Given the description of an element on the screen output the (x, y) to click on. 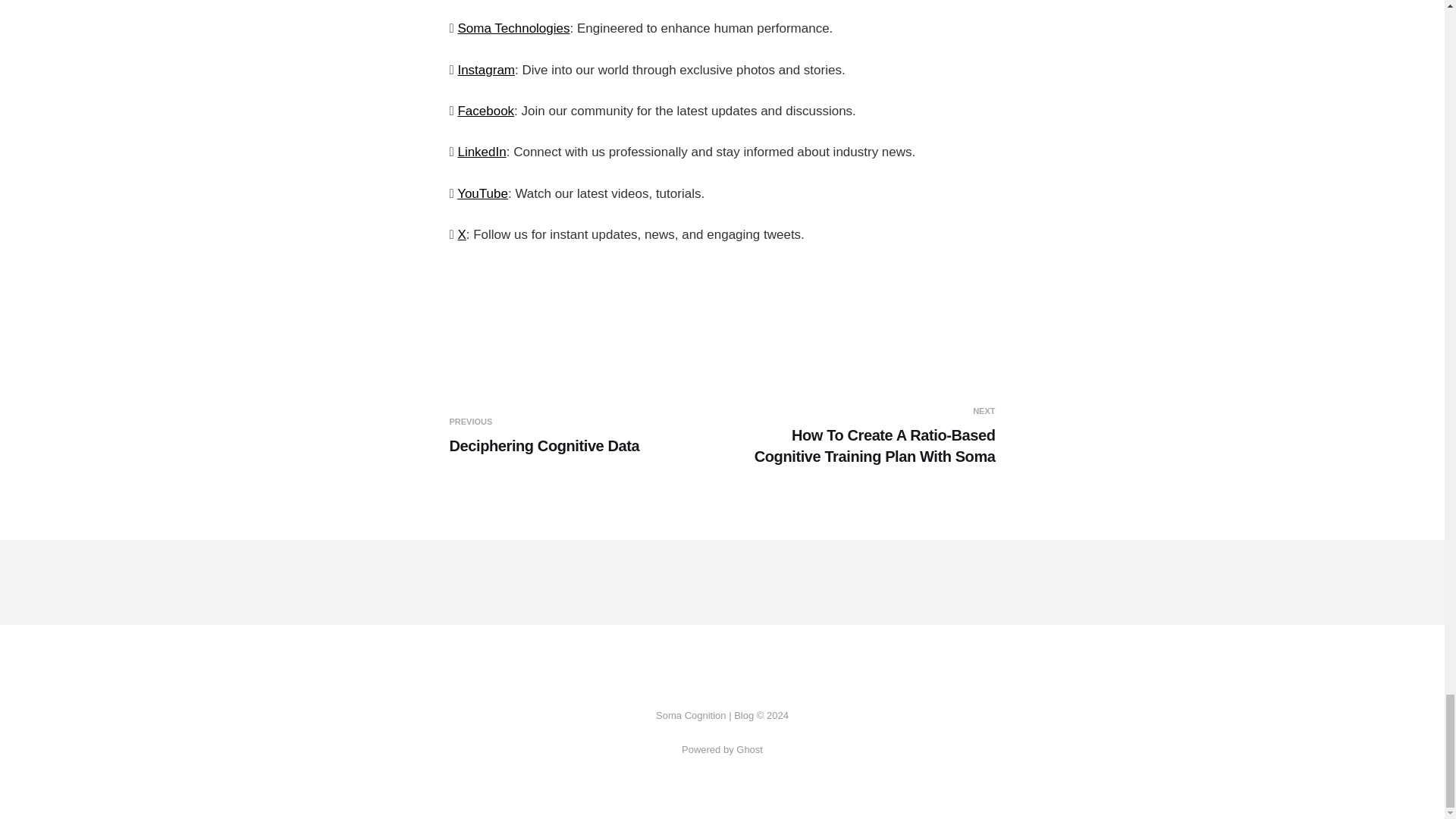
Soma Technologies (513, 28)
Instagram (486, 69)
LinkedIn (481, 151)
YouTube (582, 435)
Facebook (482, 193)
Powered by Ghost (485, 110)
